Given the description of an element on the screen output the (x, y) to click on. 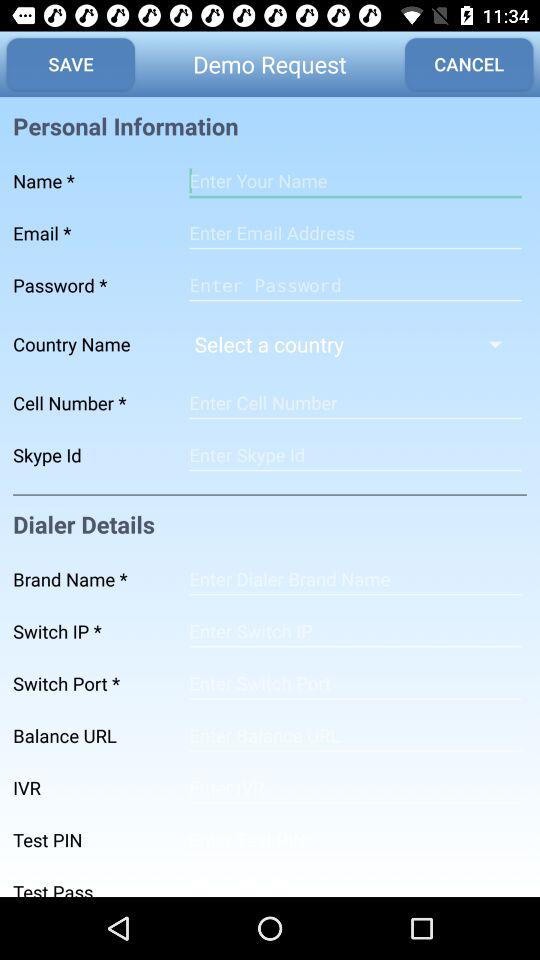
test pass input field (355, 881)
